Given the description of an element on the screen output the (x, y) to click on. 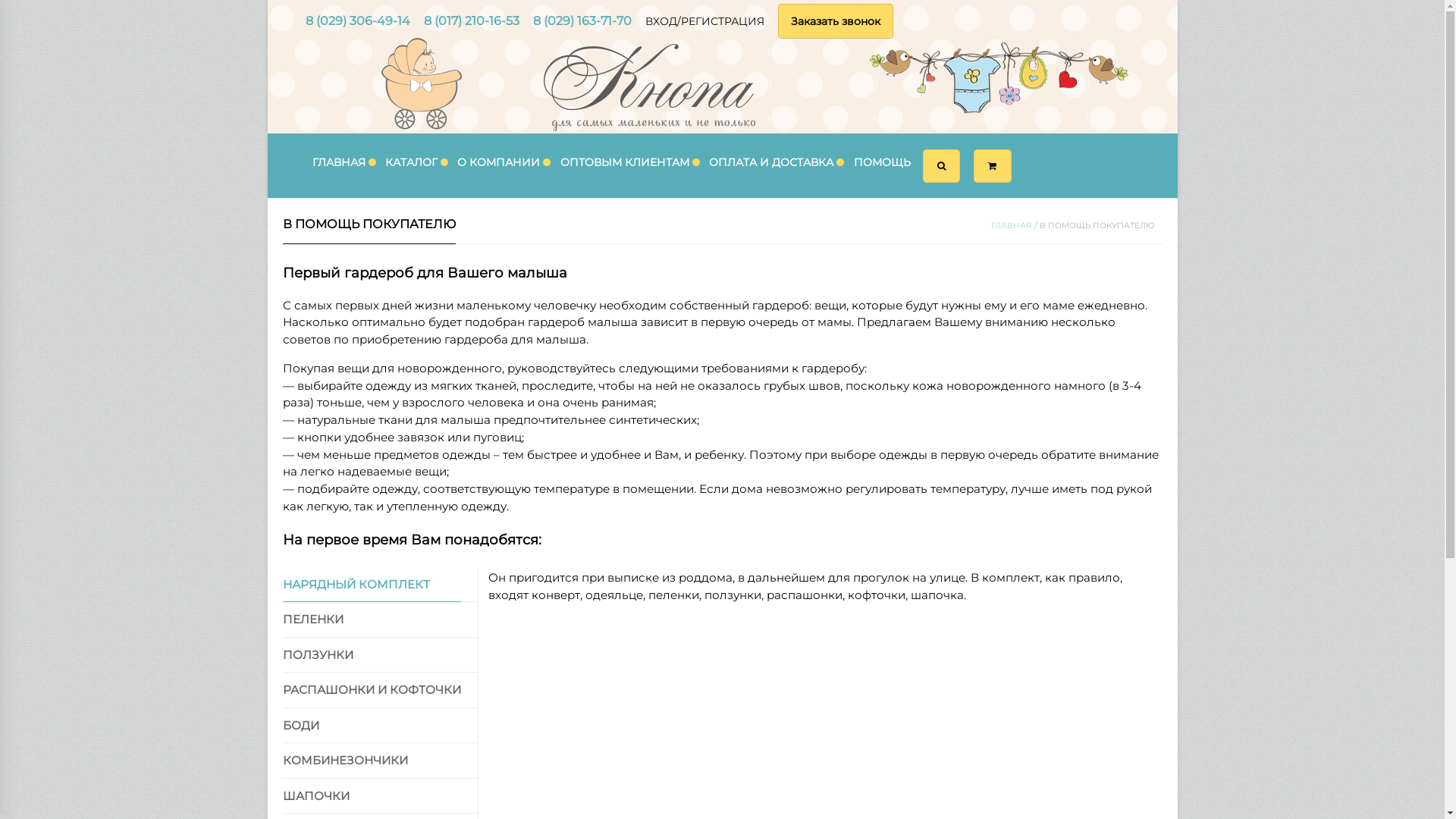
8 (029) 163-71-70 Element type: text (581, 20)
8 (017) 210-16-53 Element type: text (470, 20)
8 (029) 306-49-14 Element type: text (356, 20)
